Given the description of an element on the screen output the (x, y) to click on. 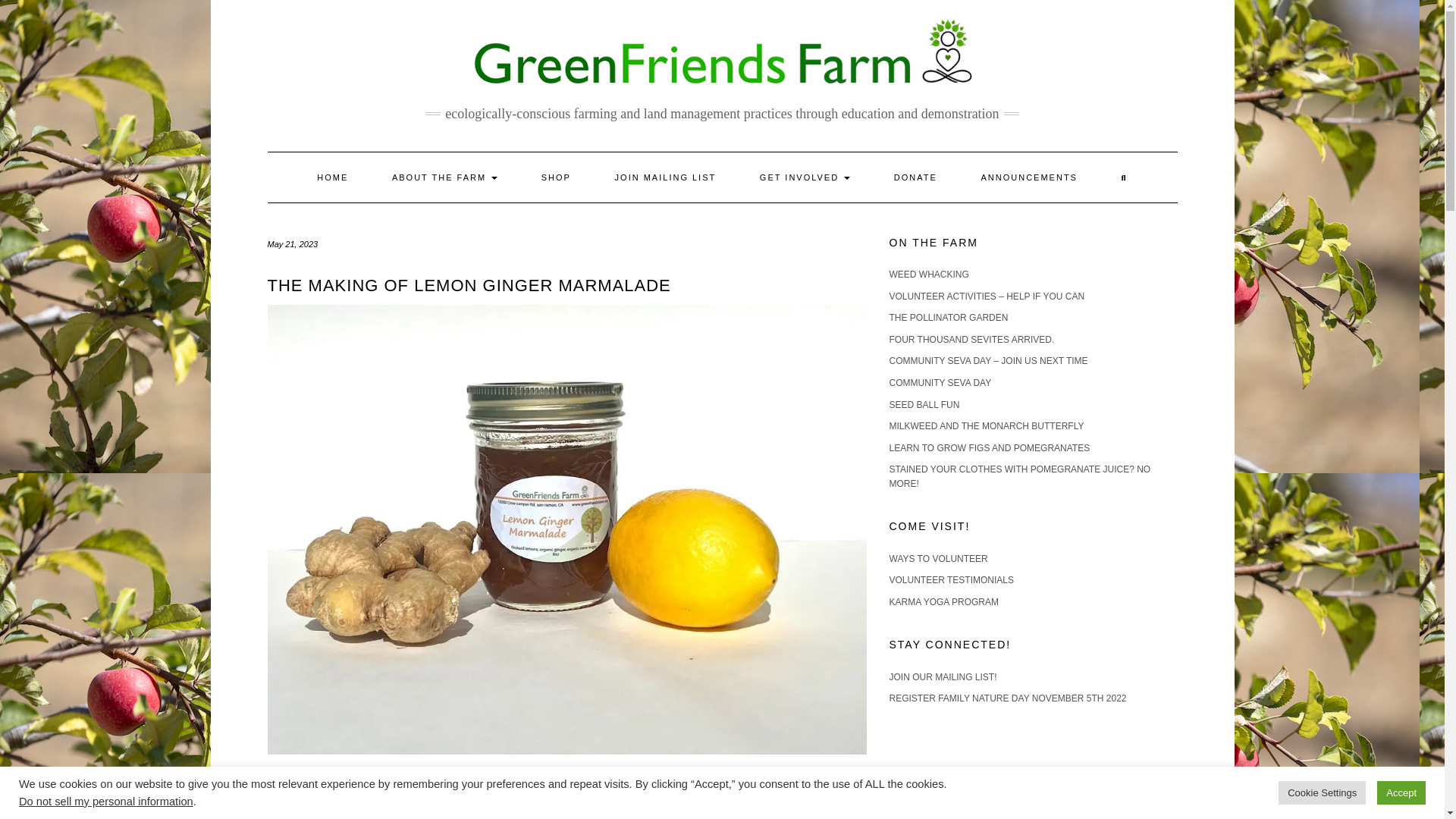
GET INVOLVED (804, 177)
ABOUT THE FARM (444, 177)
HOME (332, 177)
SHOP (556, 177)
ANNOUNCEMENTS (1028, 177)
WEED WHACKING (928, 274)
JOIN MAILING LIST (665, 177)
DONATE (915, 177)
